Given the description of an element on the screen output the (x, y) to click on. 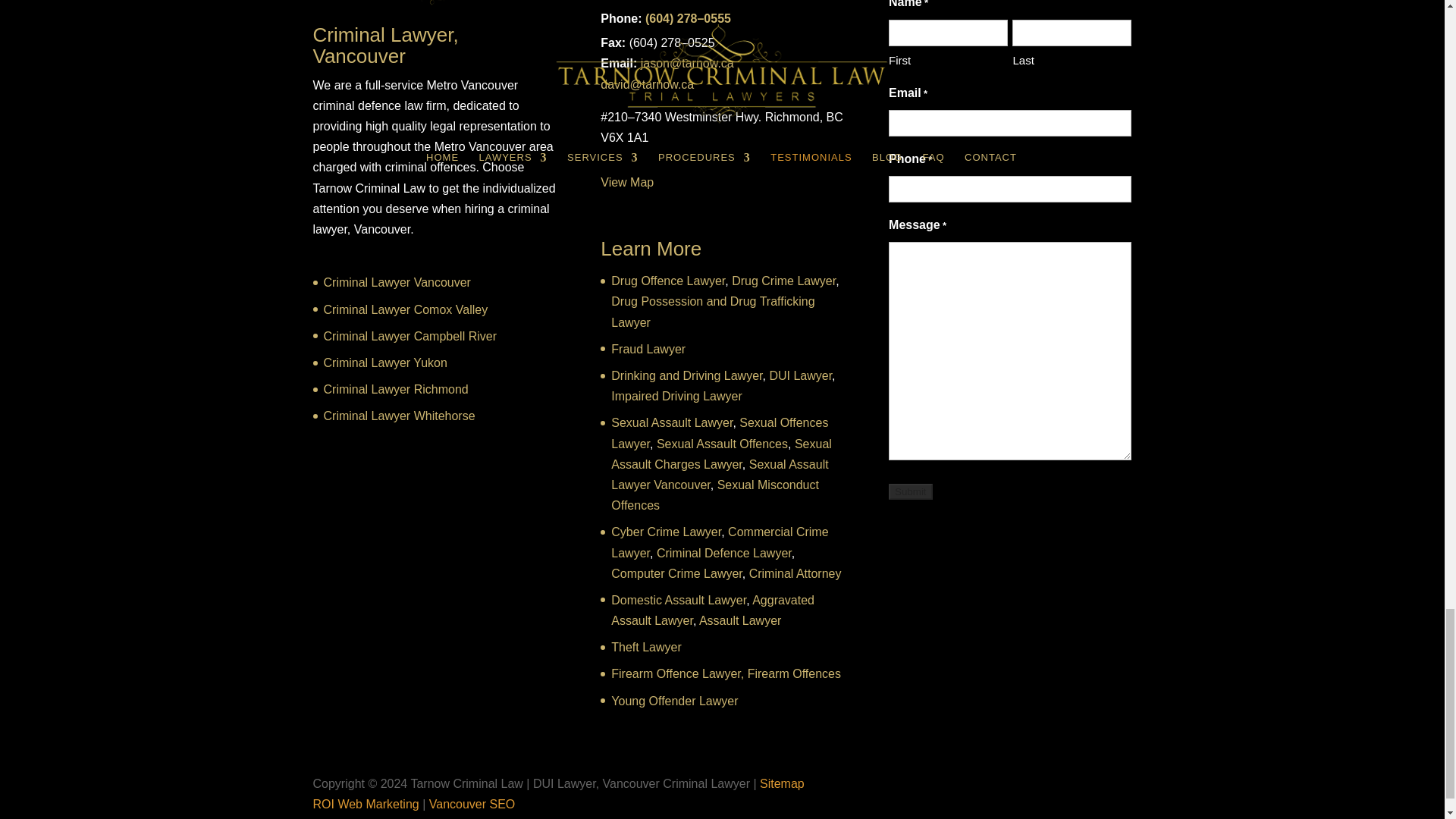
Criminal Lawyer Richmond (395, 389)
Submit (909, 490)
Criminal Lawyer Campbell River (409, 336)
Criminal Lawyer Yukon (384, 362)
Criminal Lawyer Comox Valley (405, 309)
Criminal Lawyer Whitehorse (398, 415)
Criminal Lawyer Vancouver (396, 282)
